Given the description of an element on the screen output the (x, y) to click on. 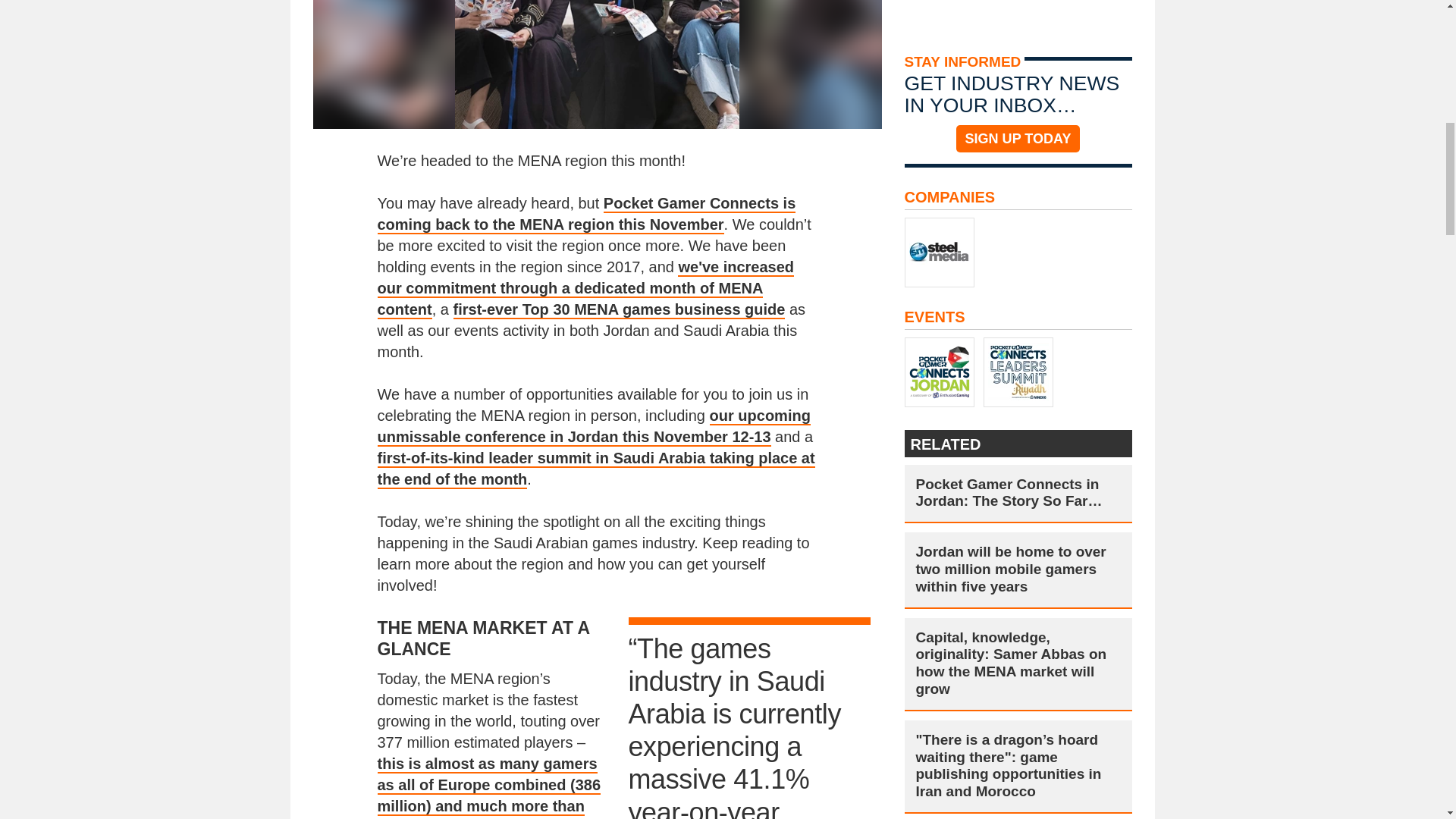
first-ever Top 30 MENA games business guide (619, 310)
